Given the description of an element on the screen output the (x, y) to click on. 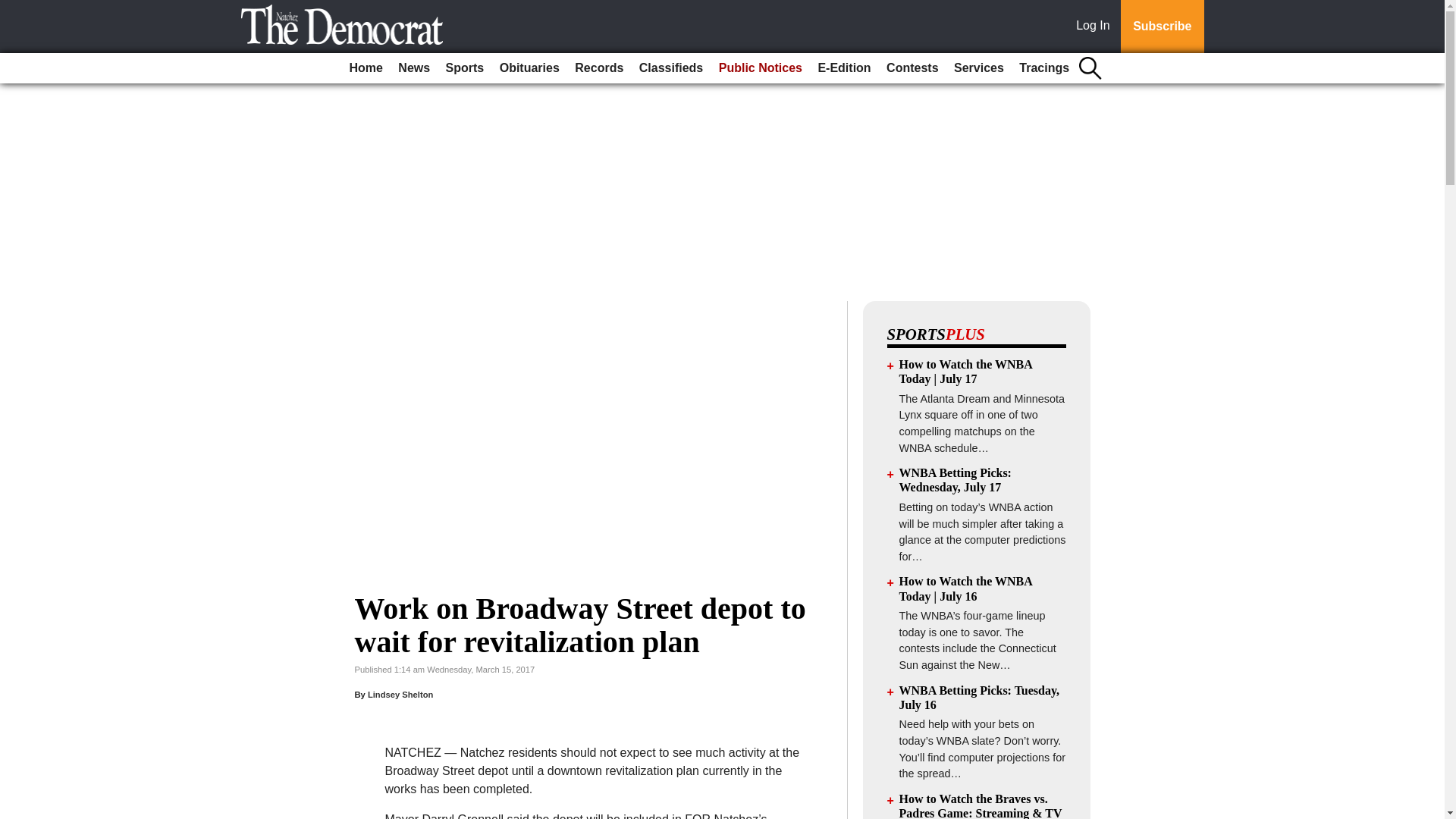
Services (978, 68)
Obituaries (529, 68)
Log In (1095, 26)
Tracings (1044, 68)
E-Edition (843, 68)
Lindsey Shelton (400, 694)
Contests (911, 68)
Home (365, 68)
Classifieds (671, 68)
Subscribe (1162, 26)
Public Notices (760, 68)
Records (598, 68)
News (413, 68)
Sports (464, 68)
Go (13, 9)
